Given the description of an element on the screen output the (x, y) to click on. 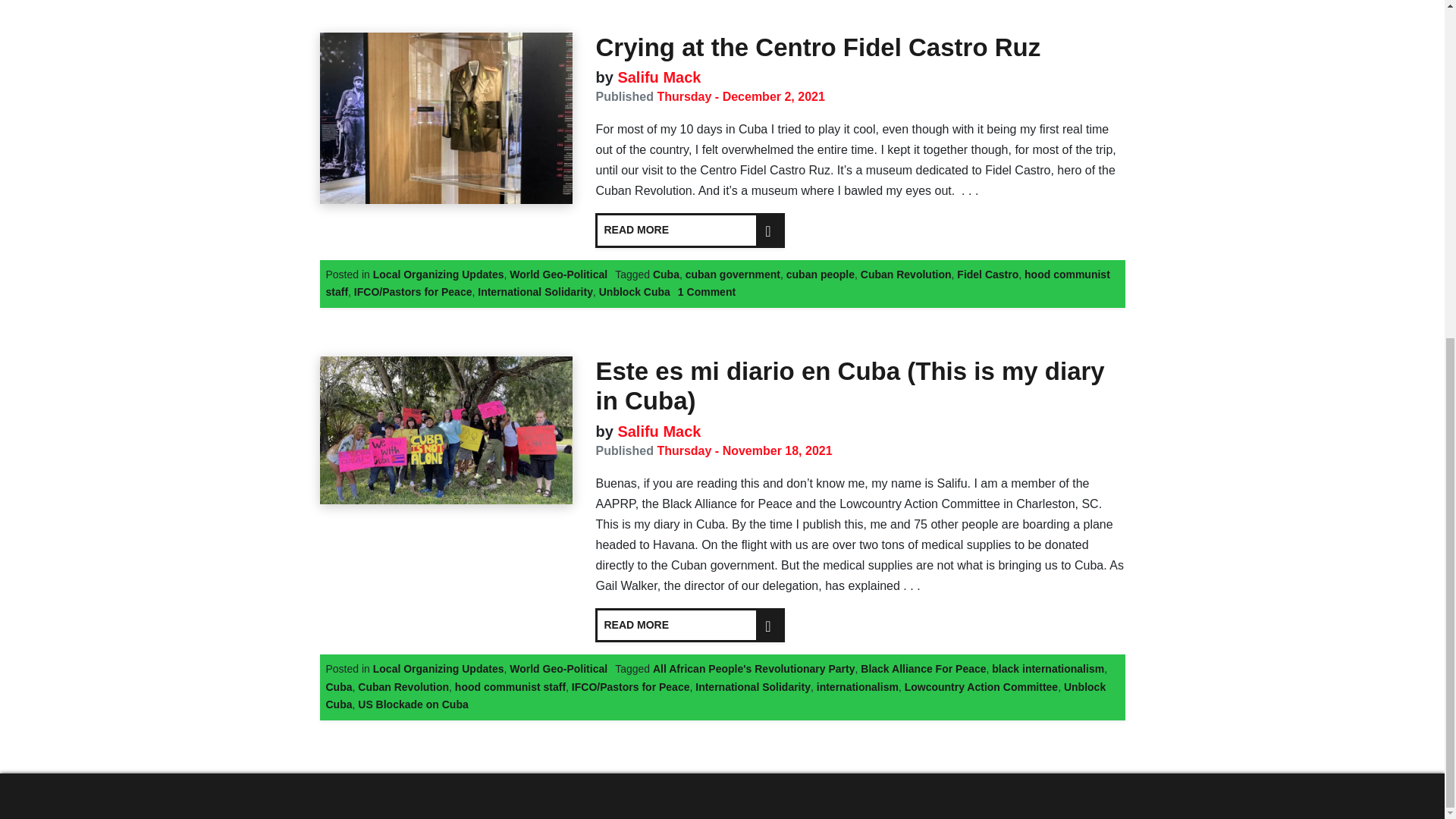
Local Organizing Updates (437, 274)
Salifu Mack (656, 76)
Salifu Mack (656, 76)
READ MORE (689, 230)
Cuba (665, 274)
World Geo-Political (558, 274)
Thursday - December 2, 2021 (740, 96)
Crying at the Centro Fidel Castro Ruz (818, 47)
